Given the description of an element on the screen output the (x, y) to click on. 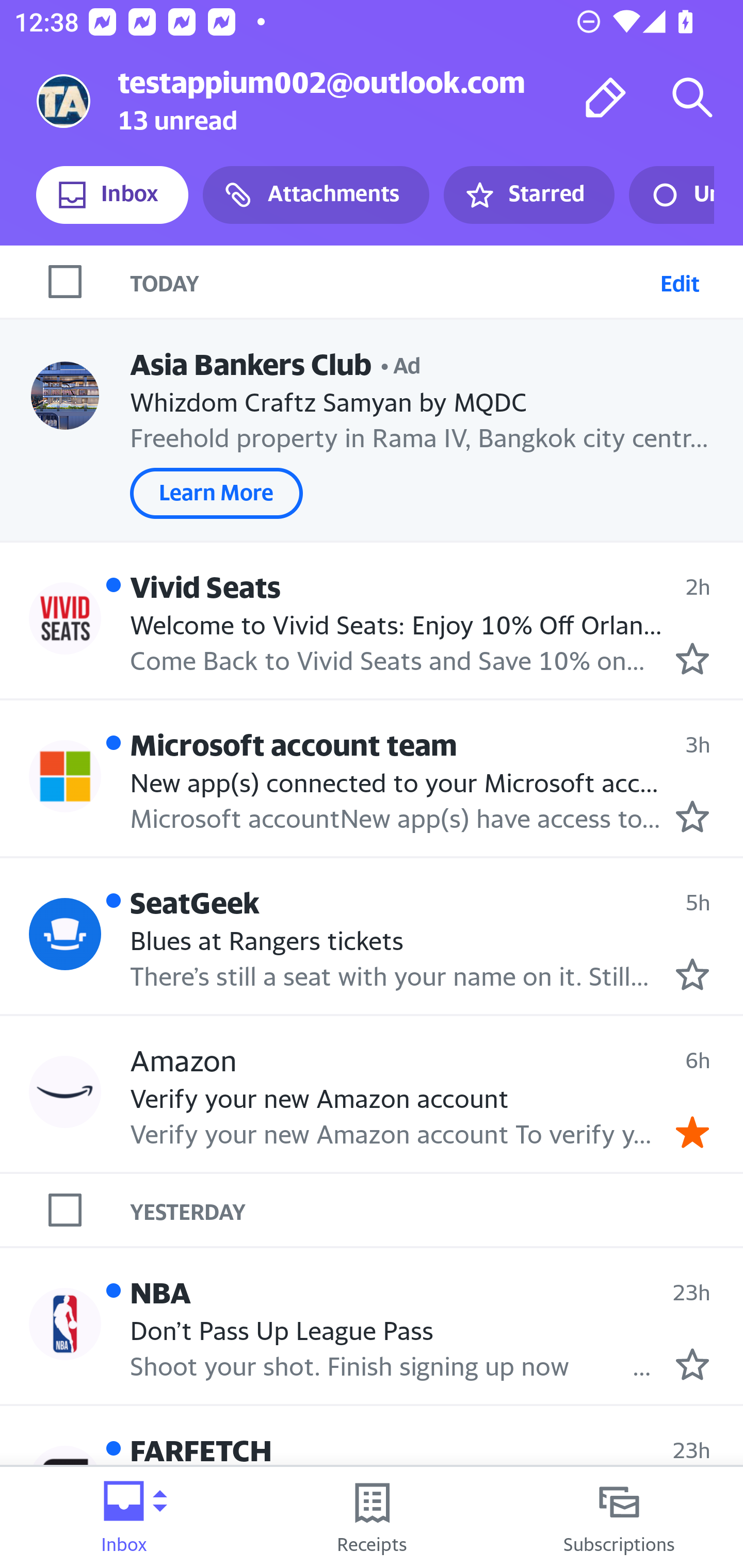
Compose (605, 97)
Search mail (692, 97)
Attachments (315, 195)
Starred (528, 195)
TODAY (391, 281)
Edit Select emails (679, 281)
Profile
Vivid Seats (64, 617)
Mark as starred. (692, 659)
Profile
Microsoft account team (64, 776)
Mark as starred. (692, 816)
Profile
SeatGeek (64, 934)
Mark as starred. (692, 974)
Profile
Amazon (64, 1091)
Remove star. (692, 1132)
YESTERDAY (436, 1209)
Profile
NBA (64, 1323)
Mark as starred. (692, 1364)
Inbox Folder picker (123, 1517)
Receipts (371, 1517)
Subscriptions (619, 1517)
